Given the description of an element on the screen output the (x, y) to click on. 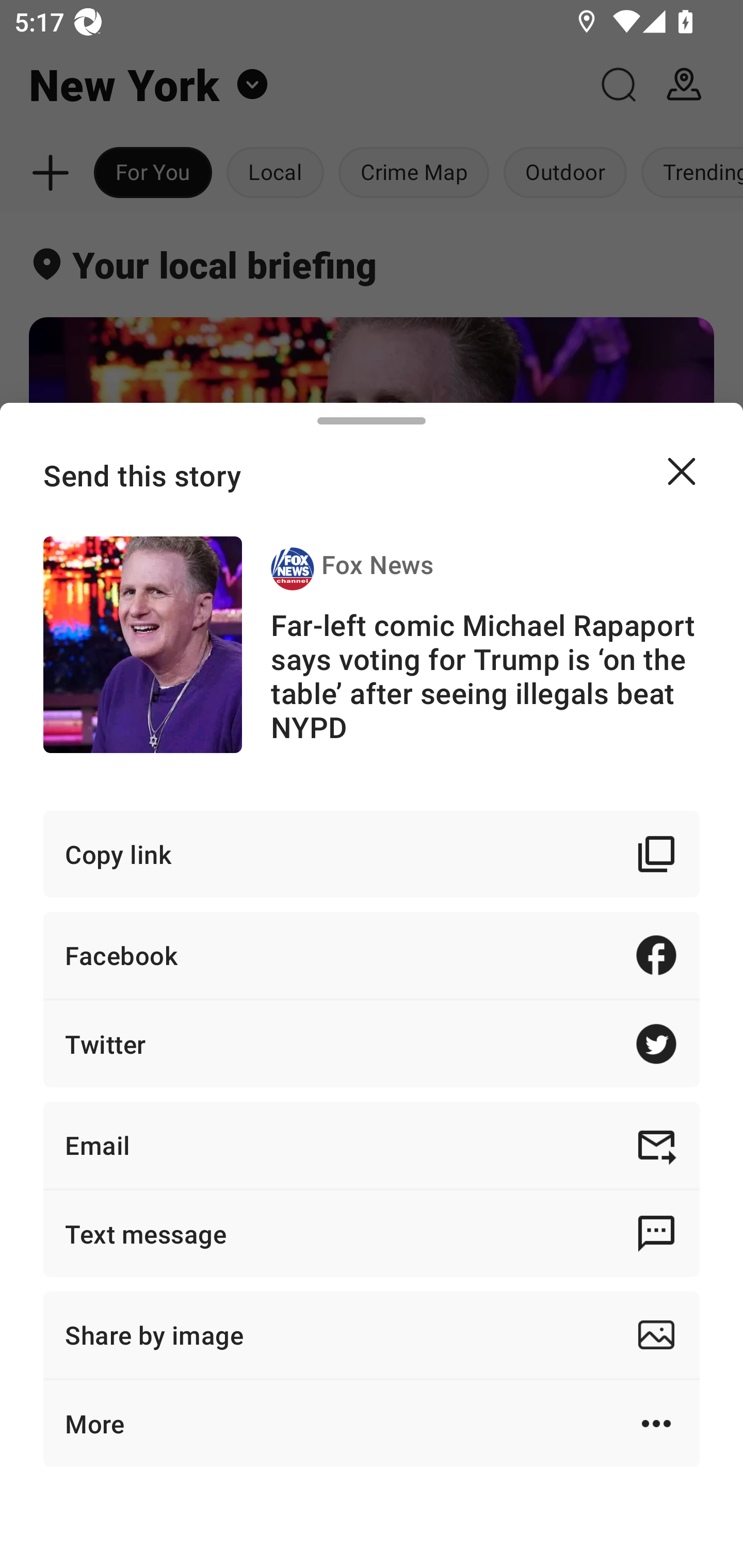
Copy link (371, 853)
Facebook (371, 955)
Twitter (371, 1043)
Email (371, 1145)
Text message (371, 1233)
Share by image (371, 1335)
More (371, 1423)
